Given the description of an element on the screen output the (x, y) to click on. 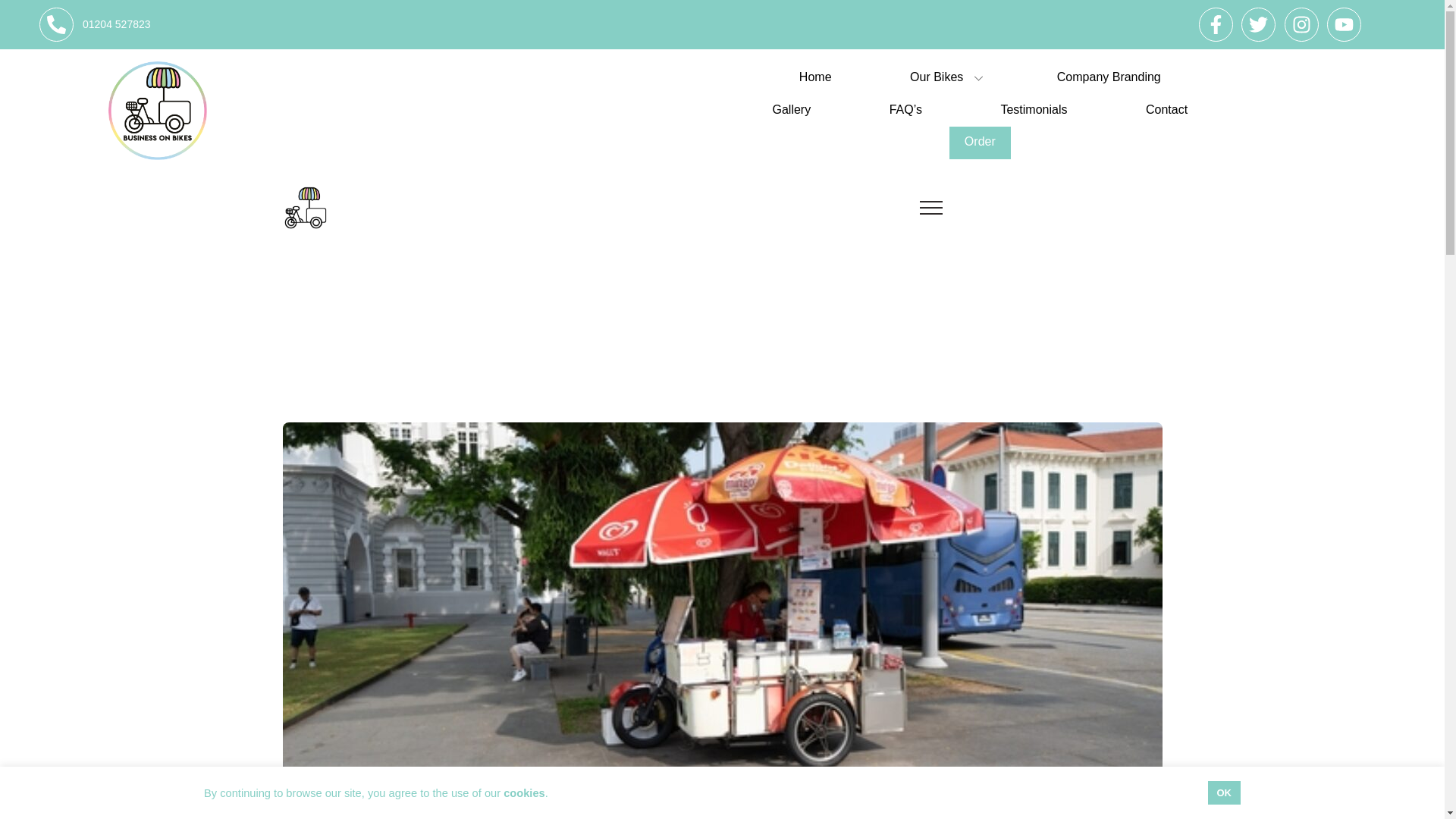
Home (815, 78)
Gallery (791, 111)
Order (979, 142)
Testimonials (1033, 111)
Contact (1166, 111)
Our Bikes (943, 78)
01204 527823 (96, 24)
Company Branding (1109, 78)
Business On Bikes (304, 207)
